Given the description of an element on the screen output the (x, y) to click on. 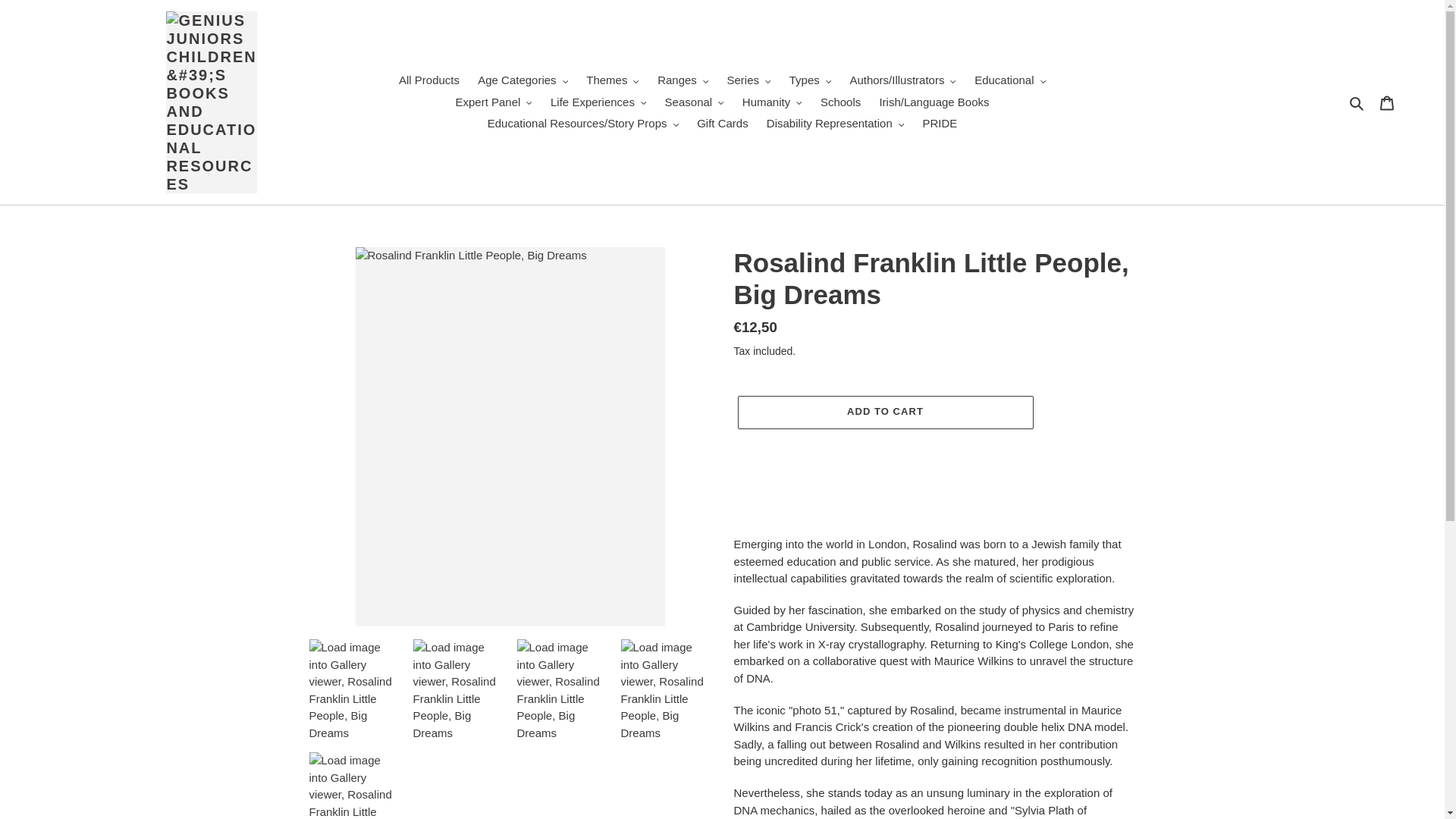
Themes (612, 80)
Ranges (682, 80)
All Products (429, 80)
Age Categories (522, 80)
